Given the description of an element on the screen output the (x, y) to click on. 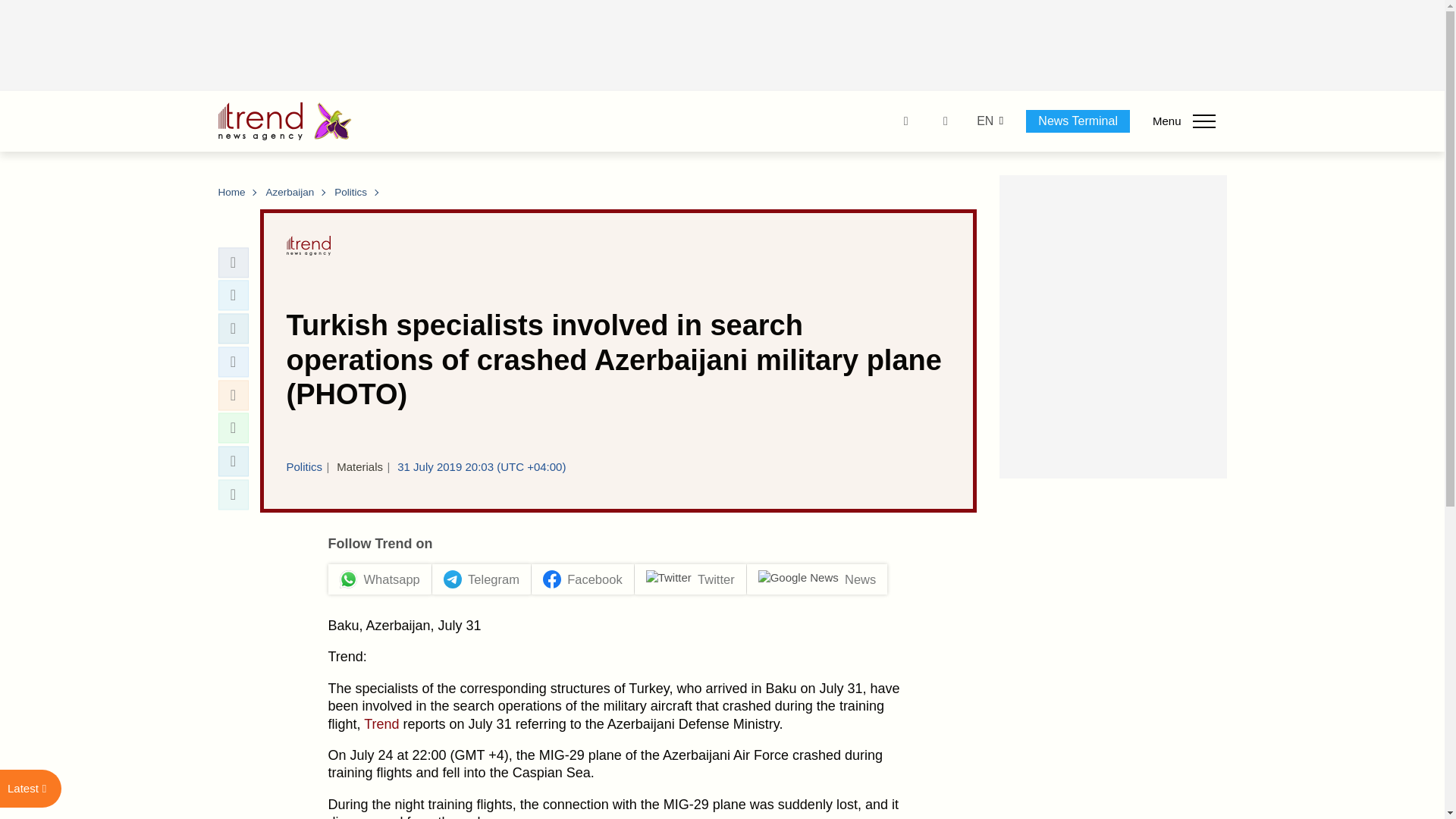
News Terminal (1077, 120)
English (984, 121)
EN (984, 121)
